Given the description of an element on the screen output the (x, y) to click on. 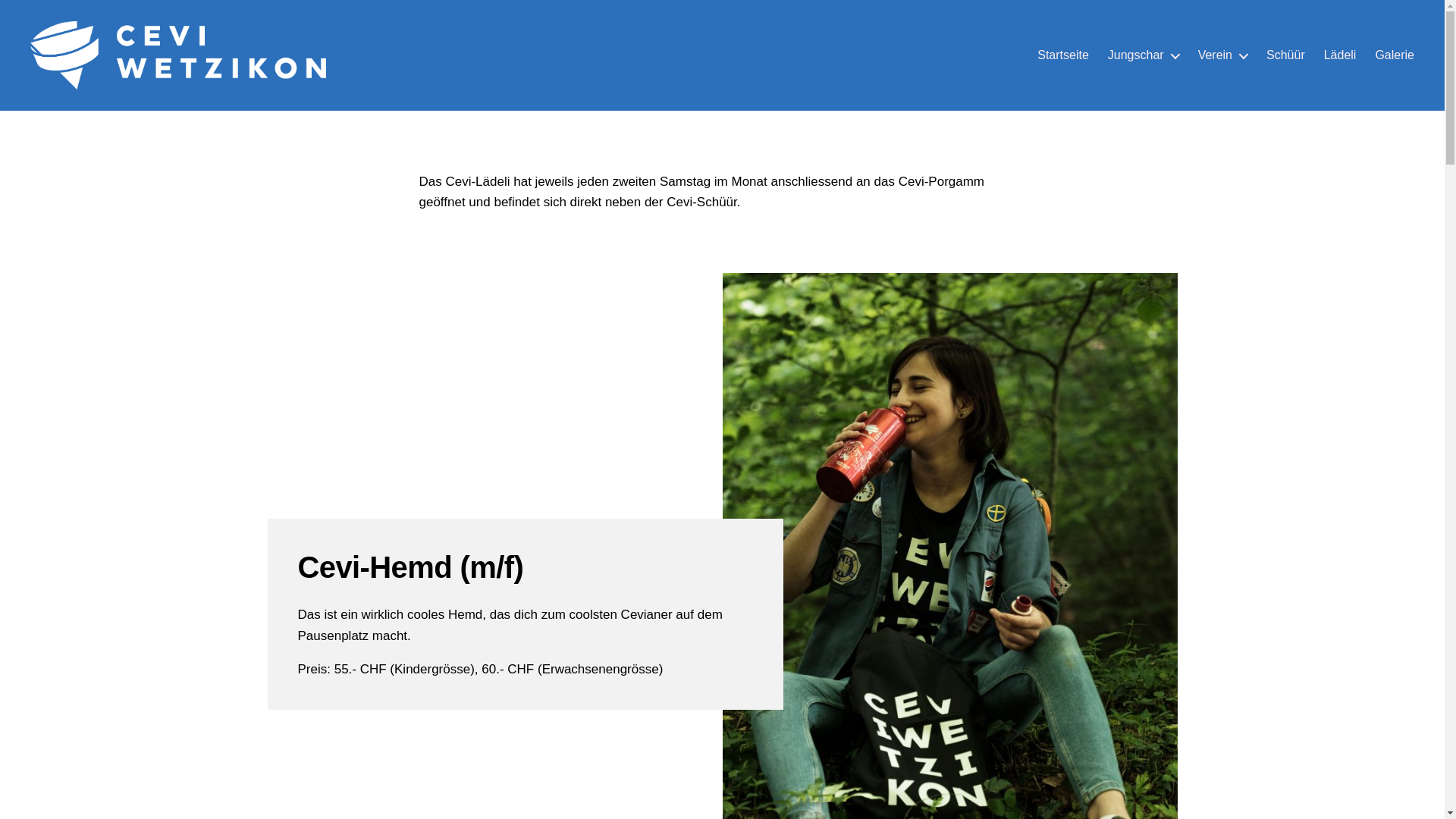
Galerie Element type: text (1394, 54)
Jungschar Element type: text (1143, 54)
Startseite Element type: text (1062, 54)
Verein Element type: text (1222, 54)
